Given the description of an element on the screen output the (x, y) to click on. 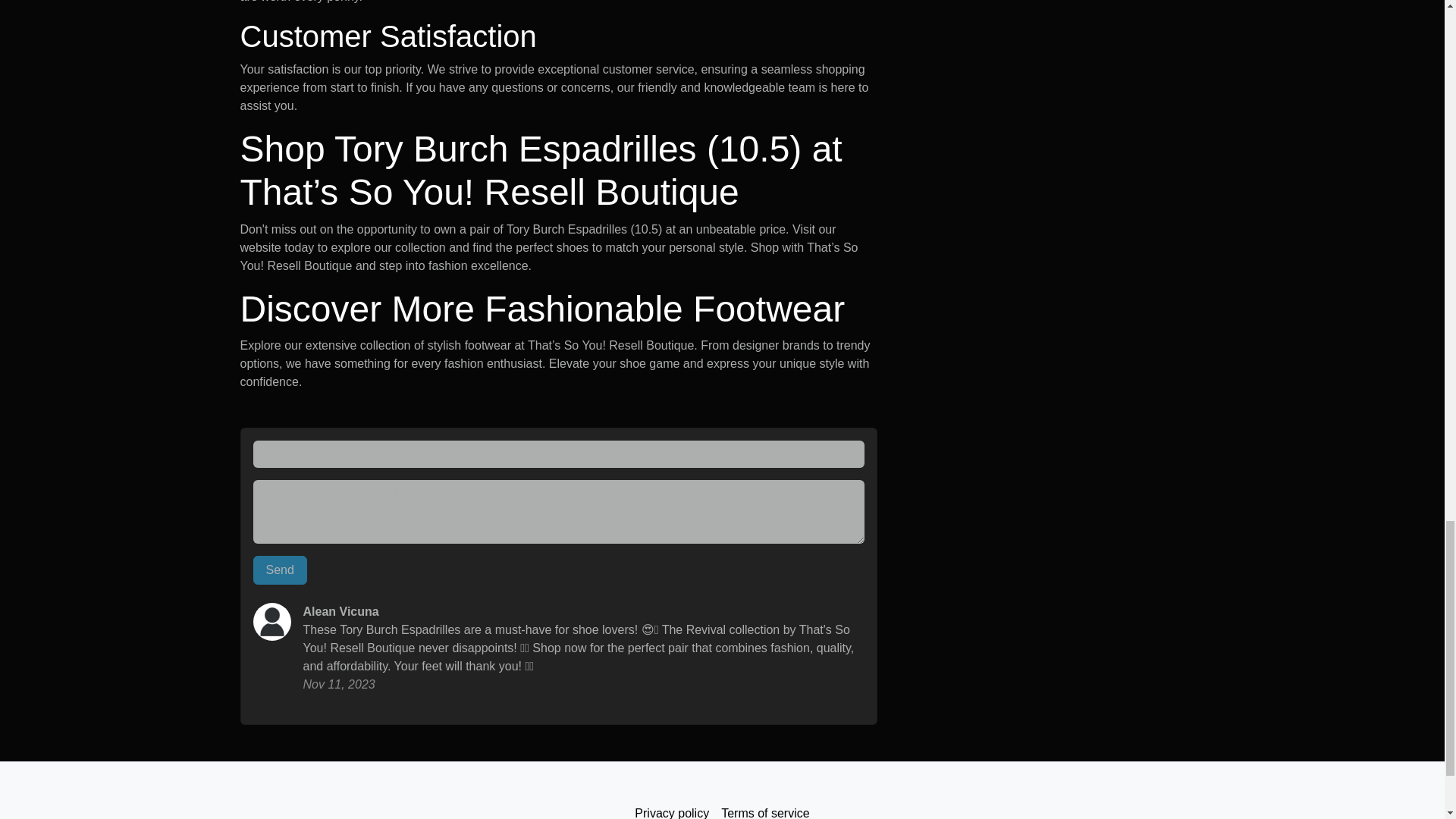
Privacy policy (671, 808)
Send (280, 570)
Terms of service (764, 808)
Send (280, 570)
